Given the description of an element on the screen output the (x, y) to click on. 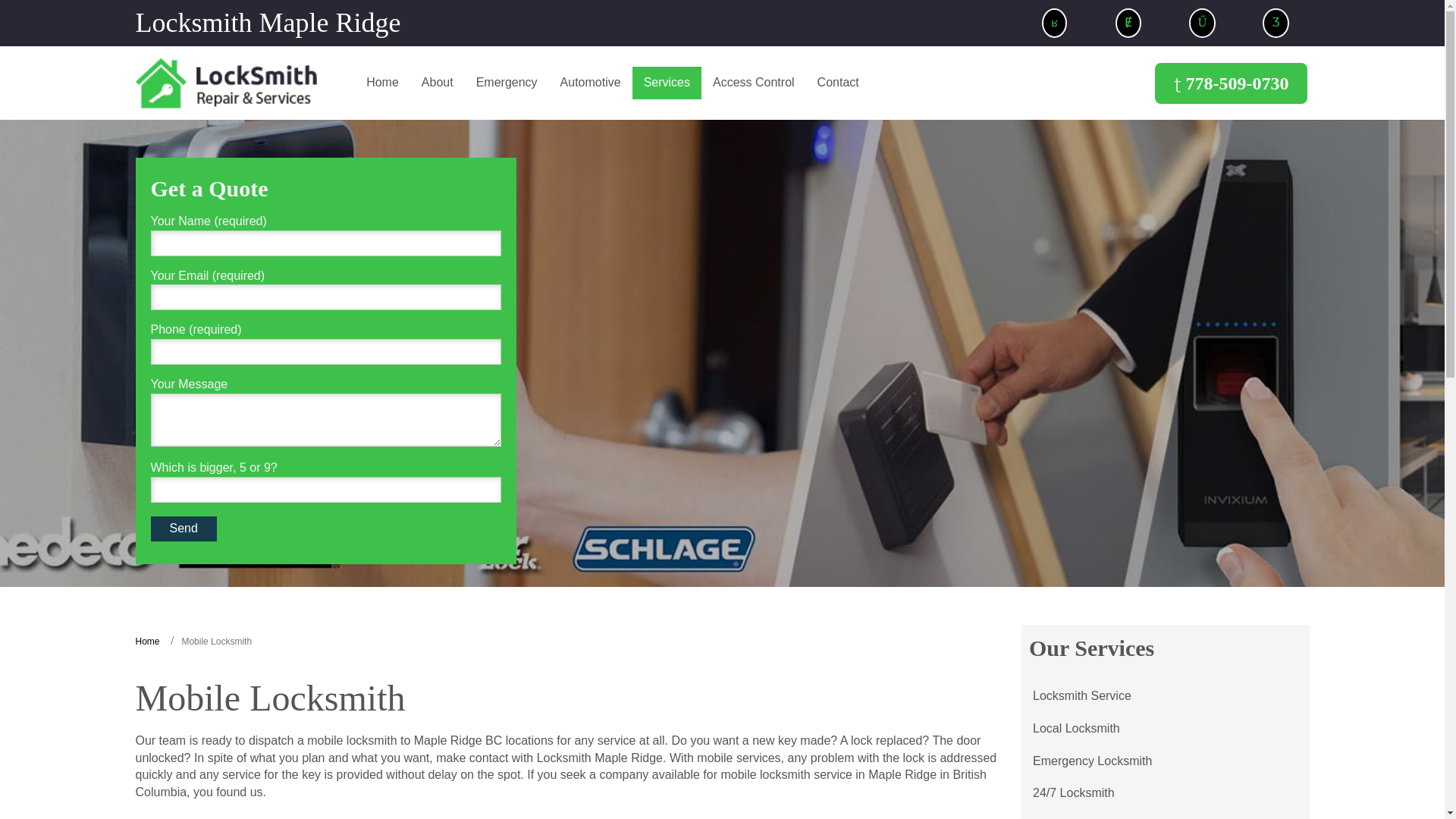
778-509-0730 (1230, 83)
Services (666, 82)
Home (382, 82)
Emergency Locksmith (1092, 761)
Local Locksmith (1076, 728)
Emergency (506, 82)
Send (182, 528)
Access Control (753, 82)
Locksmith Service (1082, 696)
Contact (838, 82)
